Given the description of an element on the screen output the (x, y) to click on. 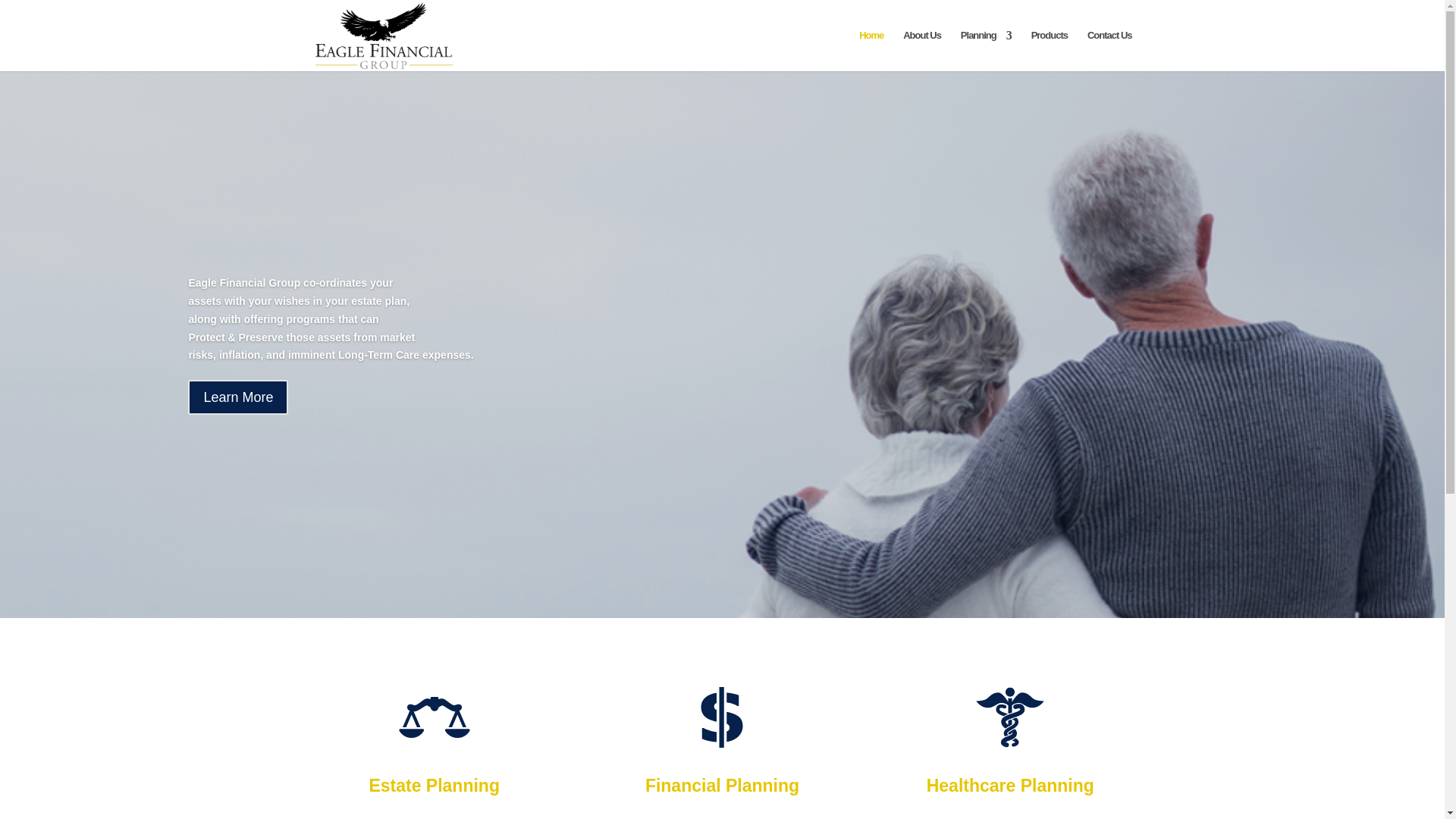
Products (1048, 50)
Financial Planning (722, 785)
About Us (921, 50)
Learn More (237, 415)
Healthcare Planning (1010, 785)
Estate Planning (433, 785)
Contact Us (1109, 50)
Planning (985, 50)
